Given the description of an element on the screen output the (x, y) to click on. 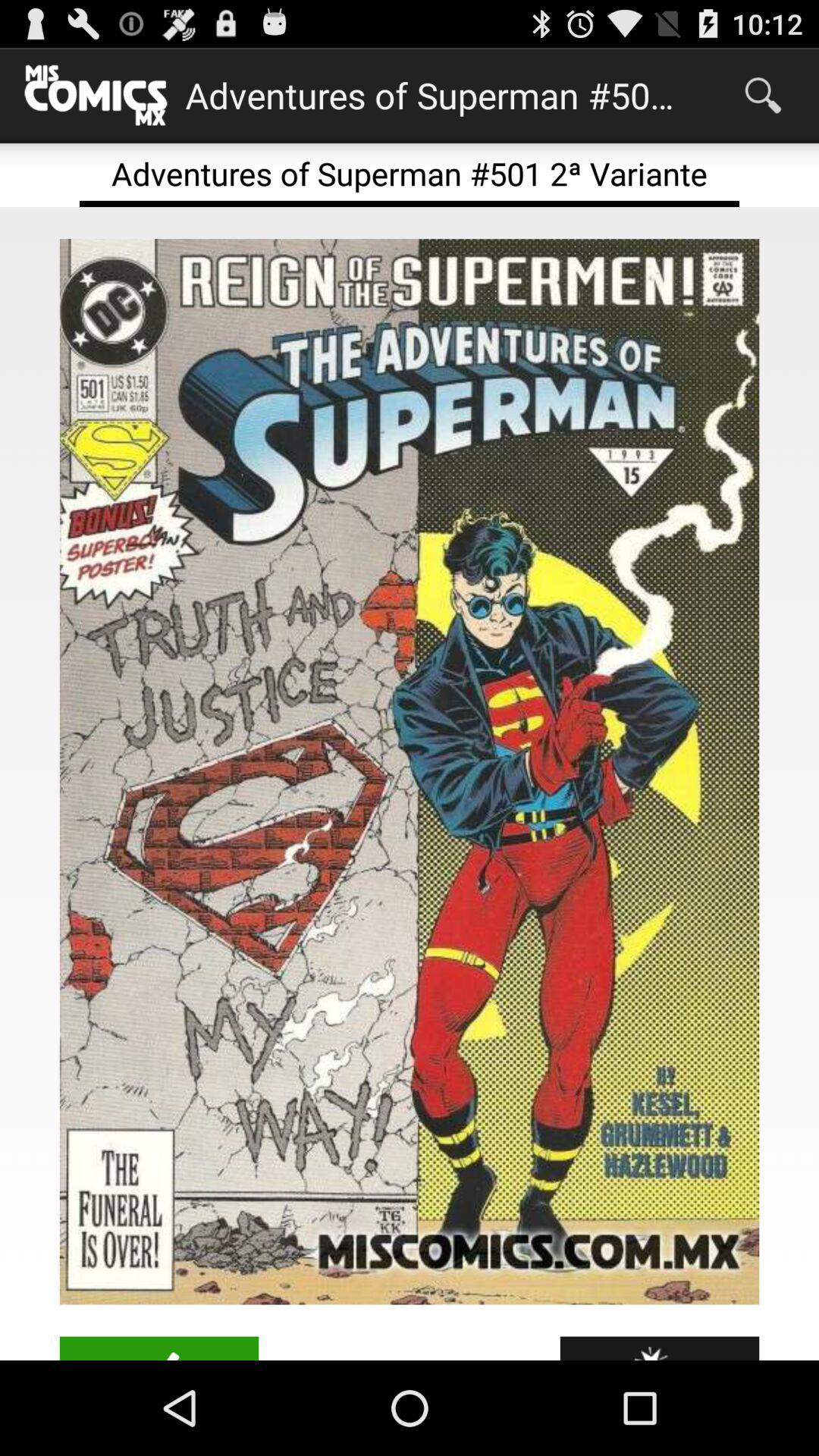
choose the app below the adventures of superman (409, 771)
